Given the description of an element on the screen output the (x, y) to click on. 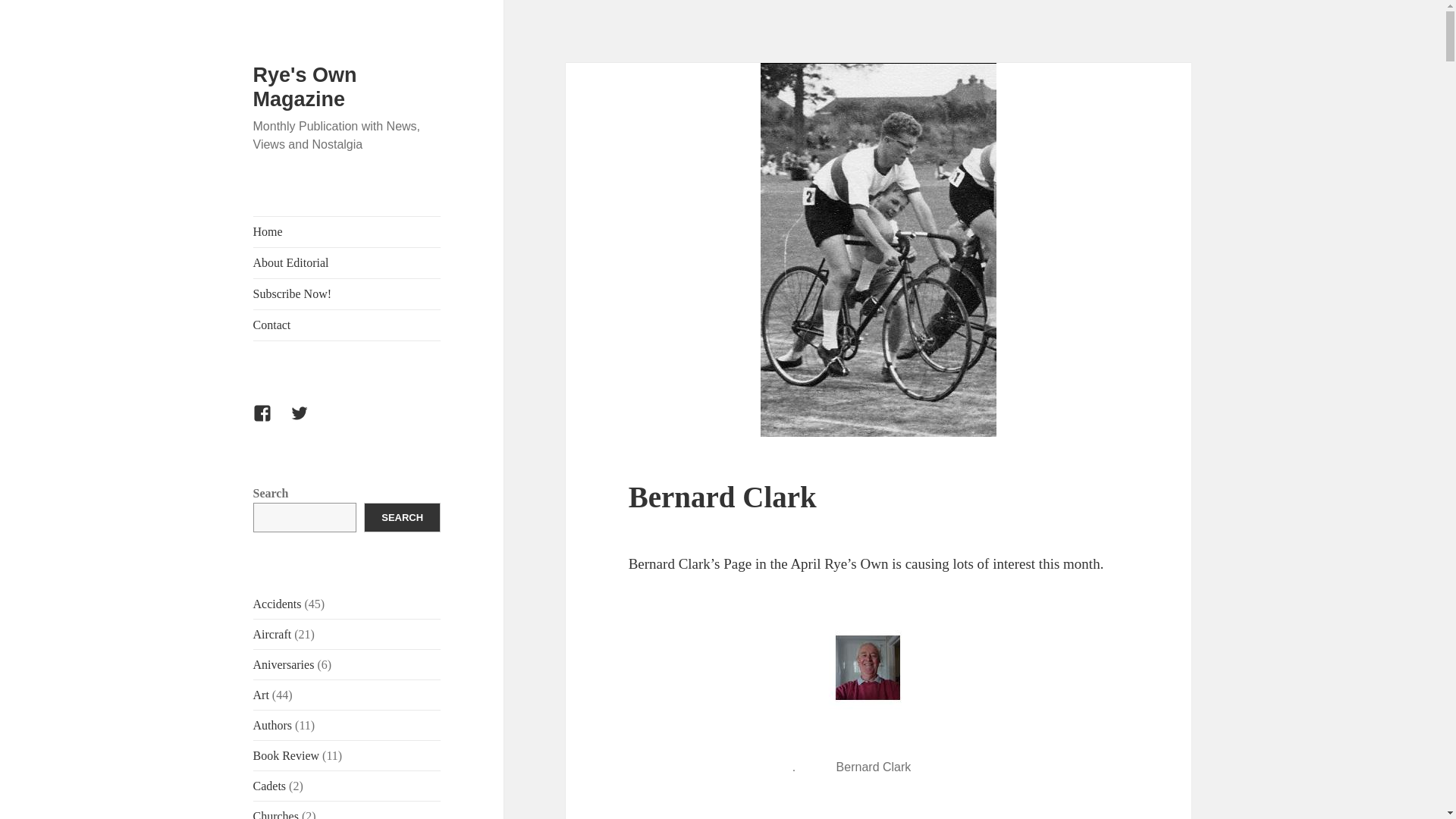
Rye's Own Magazine (304, 86)
Authors (272, 725)
Contact (347, 325)
Home (347, 232)
Art (261, 694)
Cadets (269, 785)
Twitter (307, 422)
About Editorial (347, 263)
Churches (275, 814)
Aniversaries (283, 664)
Book Review (286, 755)
Aircraft (272, 634)
SEARCH (402, 517)
Accidents (277, 603)
Subscribe Now! (347, 294)
